Given the description of an element on the screen output the (x, y) to click on. 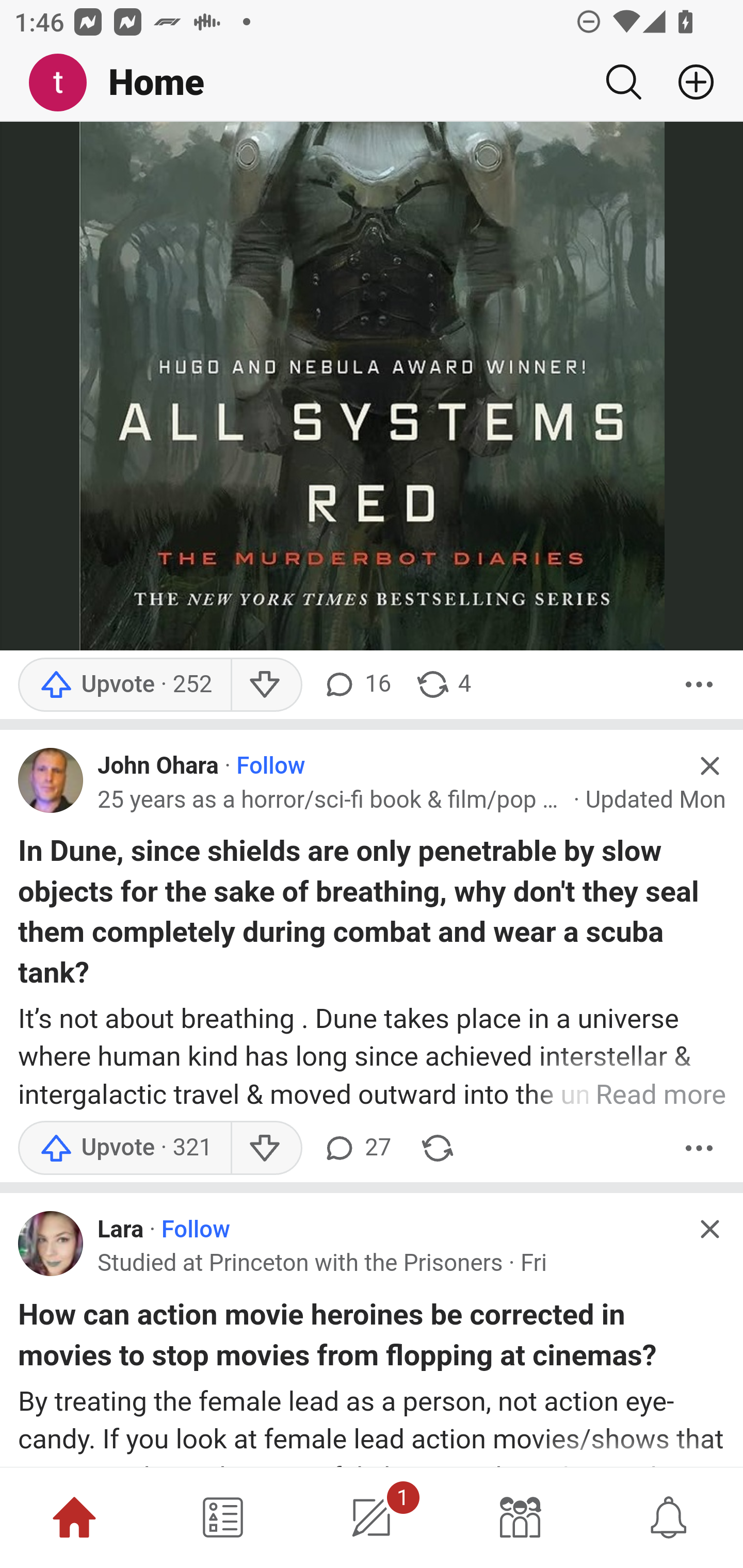
Me Home Search Add (371, 82)
Me (64, 83)
Search (623, 82)
Add (688, 82)
Upvote (124, 684)
Downvote (266, 684)
16 comments (356, 684)
4 shares (443, 684)
More (699, 684)
Hide (709, 767)
Profile photo for John Ohara (50, 780)
John Ohara (158, 766)
Follow (270, 766)
Updated Mon Updated  Mon (656, 800)
Upvote (124, 1147)
Downvote (266, 1147)
27 comments (356, 1147)
Share (437, 1147)
More (699, 1147)
Hide (709, 1228)
Profile photo for Lara (50, 1243)
Lara (120, 1230)
Follow (195, 1230)
Fri (533, 1263)
1 (371, 1517)
